Given the description of an element on the screen output the (x, y) to click on. 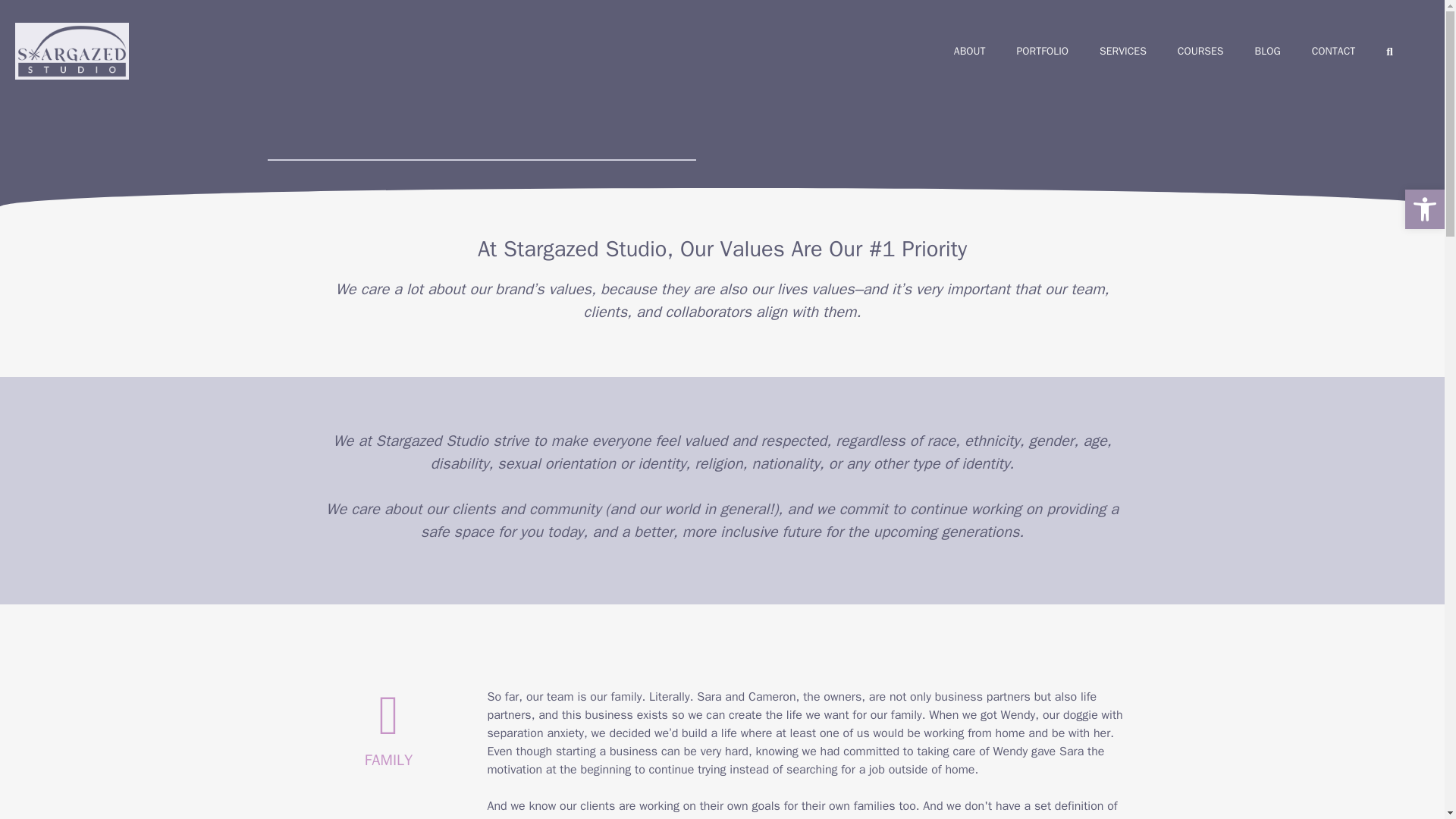
PORTFOLIO (1042, 50)
CONTACT (1334, 50)
Stargazed Studio Logo (71, 50)
SEARCH (1392, 50)
ABOUT (970, 50)
BLOG (1267, 50)
Accessibility Tools (1424, 209)
COURSES (1200, 50)
SERVICES (1122, 50)
